Given the description of an element on the screen output the (x, y) to click on. 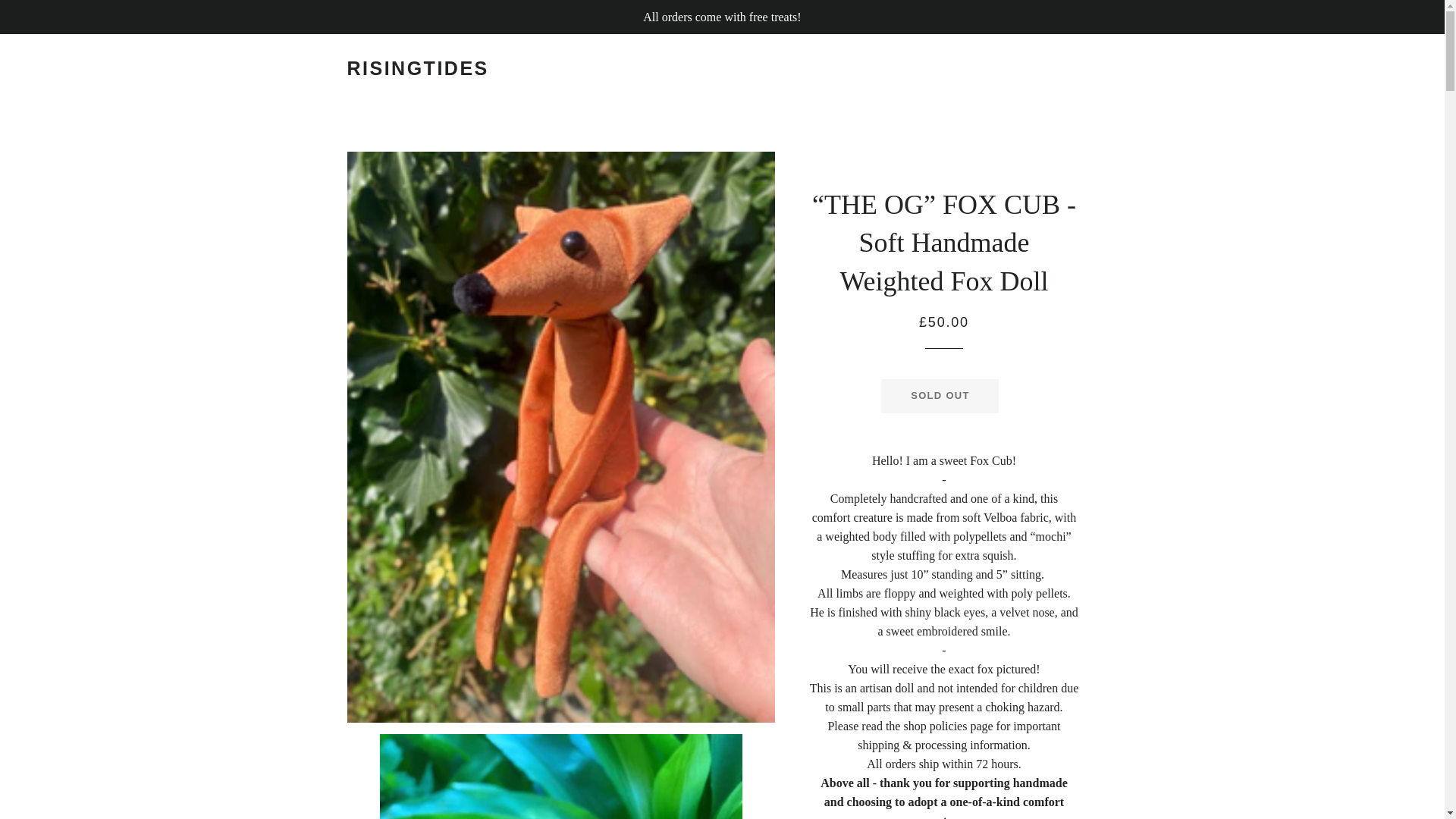
SOLD OUT (939, 395)
RISINGTIDES (418, 68)
